Given the description of an element on the screen output the (x, y) to click on. 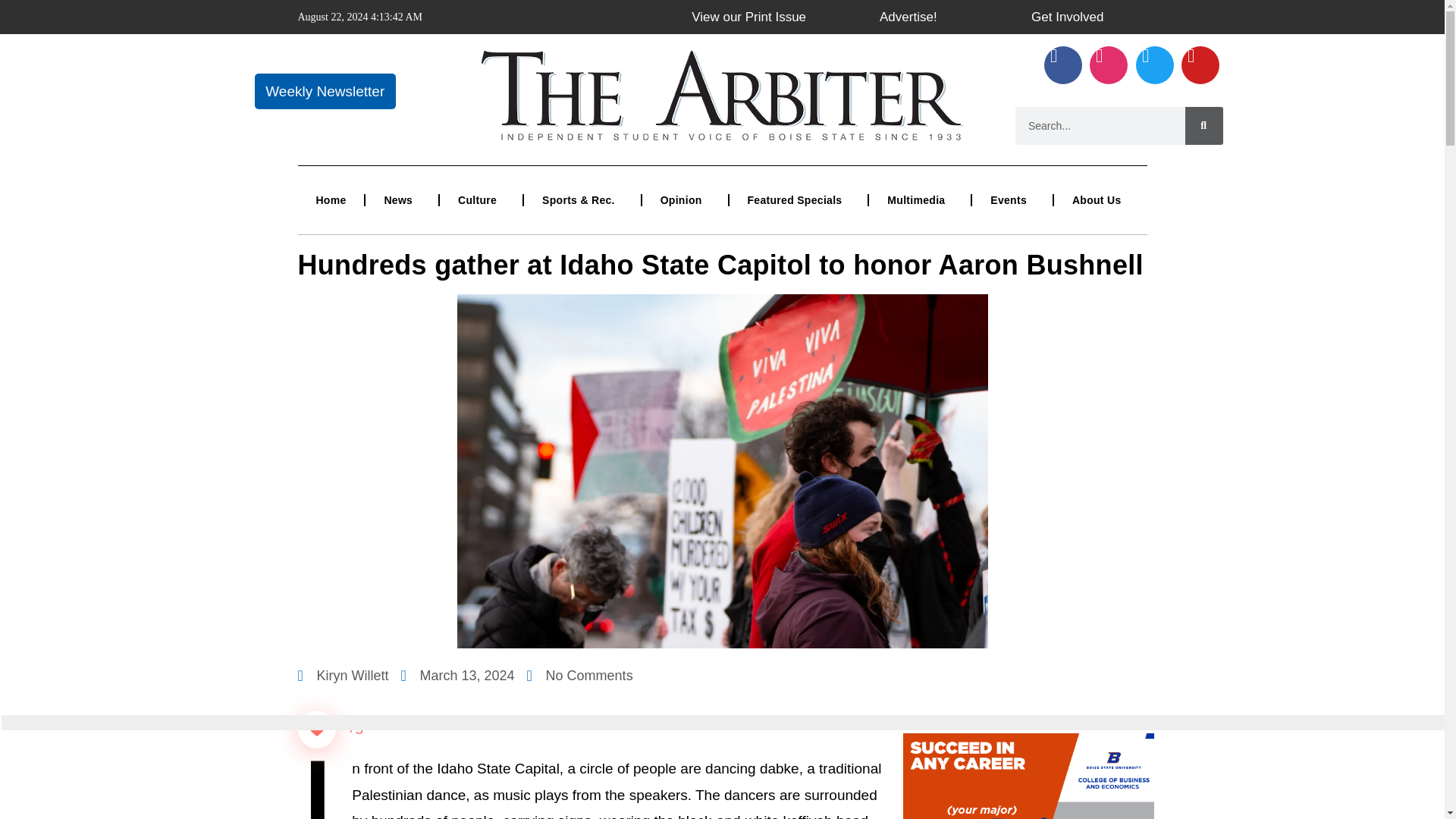
Opinion (685, 199)
Featured Specials (798, 199)
Home (330, 199)
Culture (480, 199)
News (401, 199)
